Given the description of an element on the screen output the (x, y) to click on. 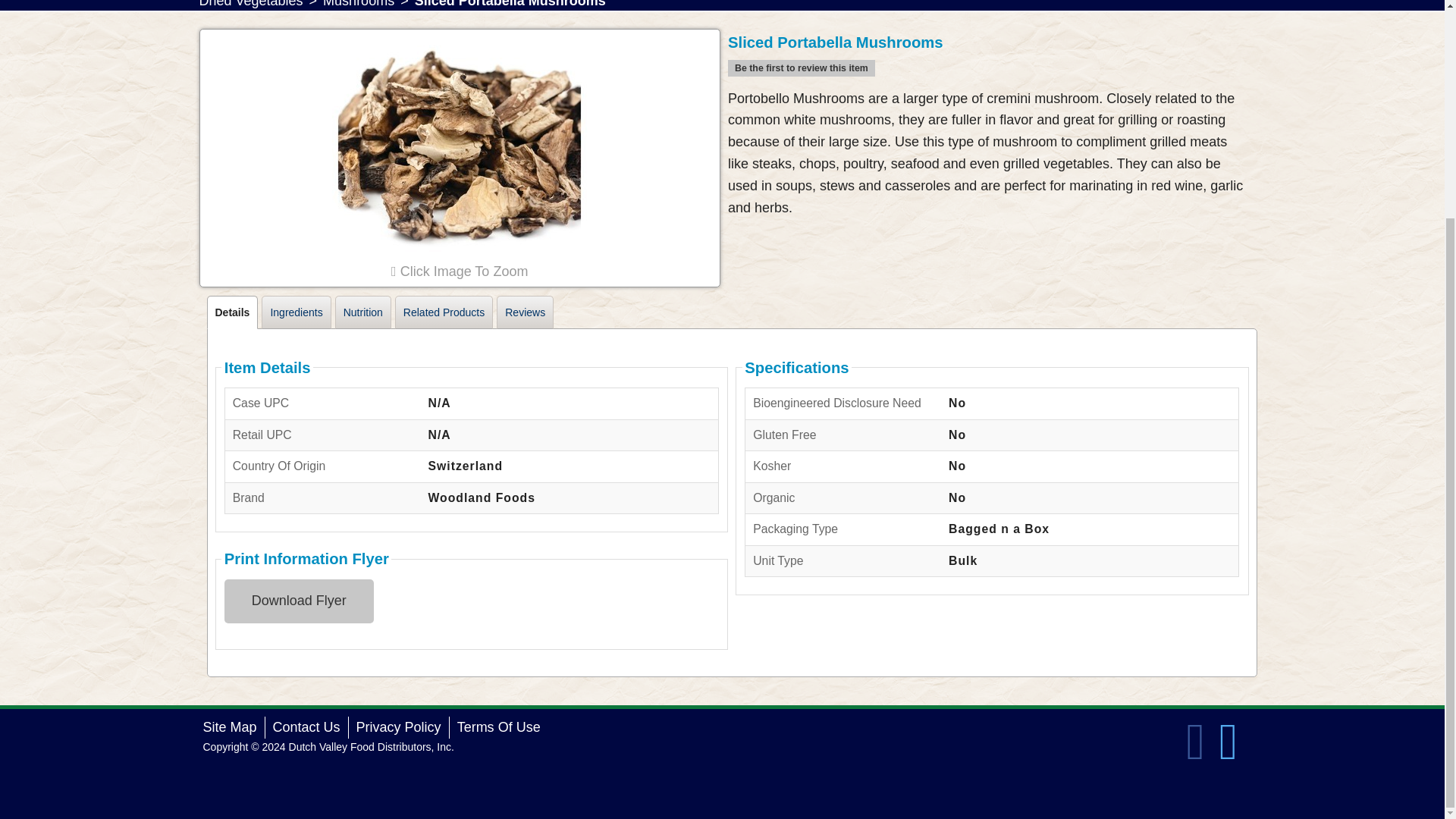
Details (232, 312)
Related Products (444, 312)
Bulk By Category (323, 5)
Articles (1119, 30)
Reviews (525, 312)
Ingredients (296, 312)
Articles (323, 57)
Nutrition (363, 312)
Dried Vegetables (250, 6)
Bulk By Brand (323, 26)
Mushrooms (358, 6)
Recipes (1119, 5)
